Given the description of an element on the screen output the (x, y) to click on. 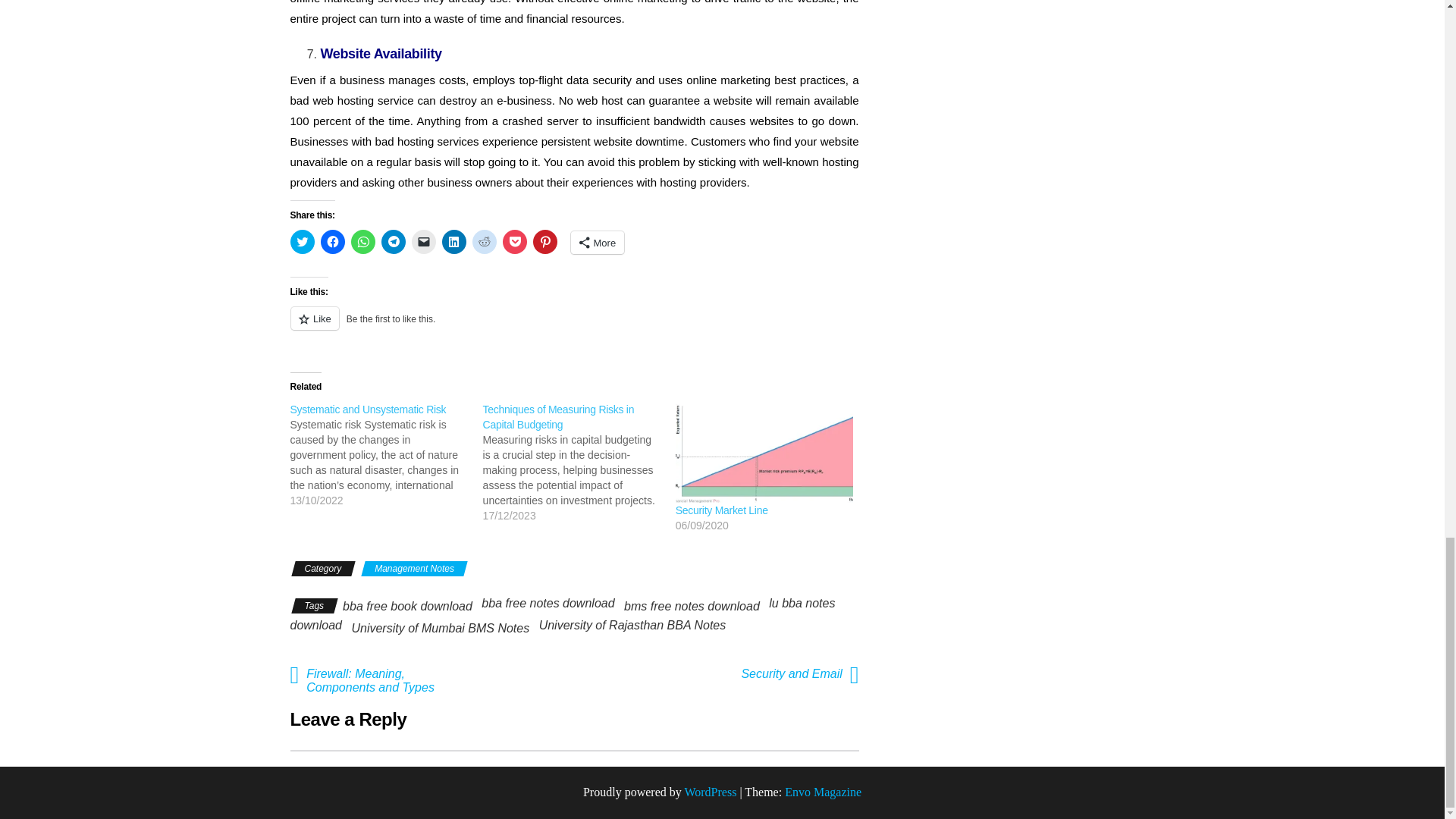
More (597, 241)
Techniques of Measuring Risks in Capital Budgeting (558, 416)
Security Market Line (721, 510)
Systematic and Unsystematic Risk (367, 409)
